Given the description of an element on the screen output the (x, y) to click on. 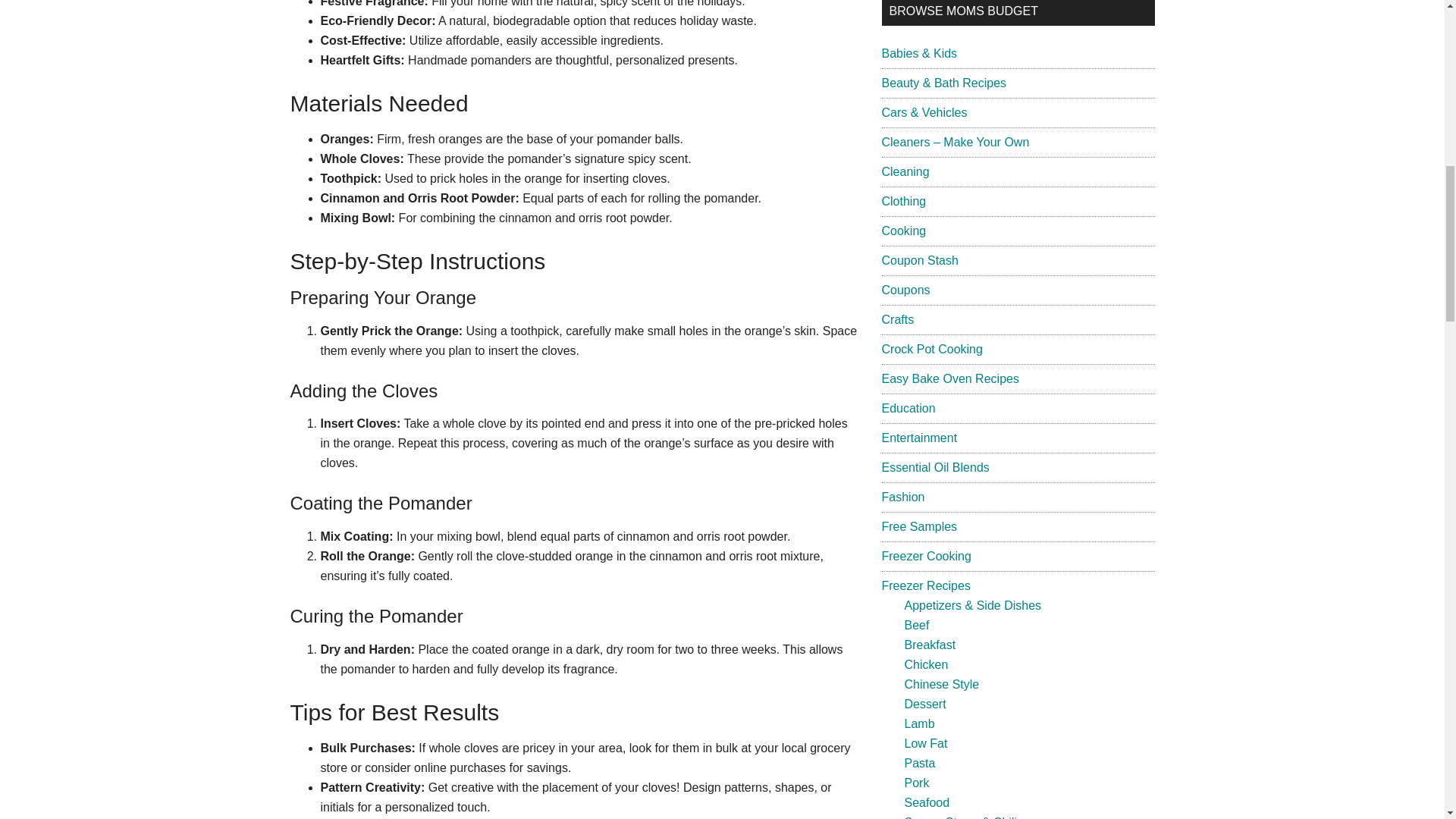
Cleaning (904, 171)
Coupon Stash (919, 259)
Cooking (903, 230)
Entertainment (918, 437)
Easy Bake Oven Recipes (948, 378)
Essential Oil Blends (934, 467)
Crock Pot Cooking (930, 349)
Clothing (903, 201)
Coupons (905, 289)
Education (907, 408)
